Given the description of an element on the screen output the (x, y) to click on. 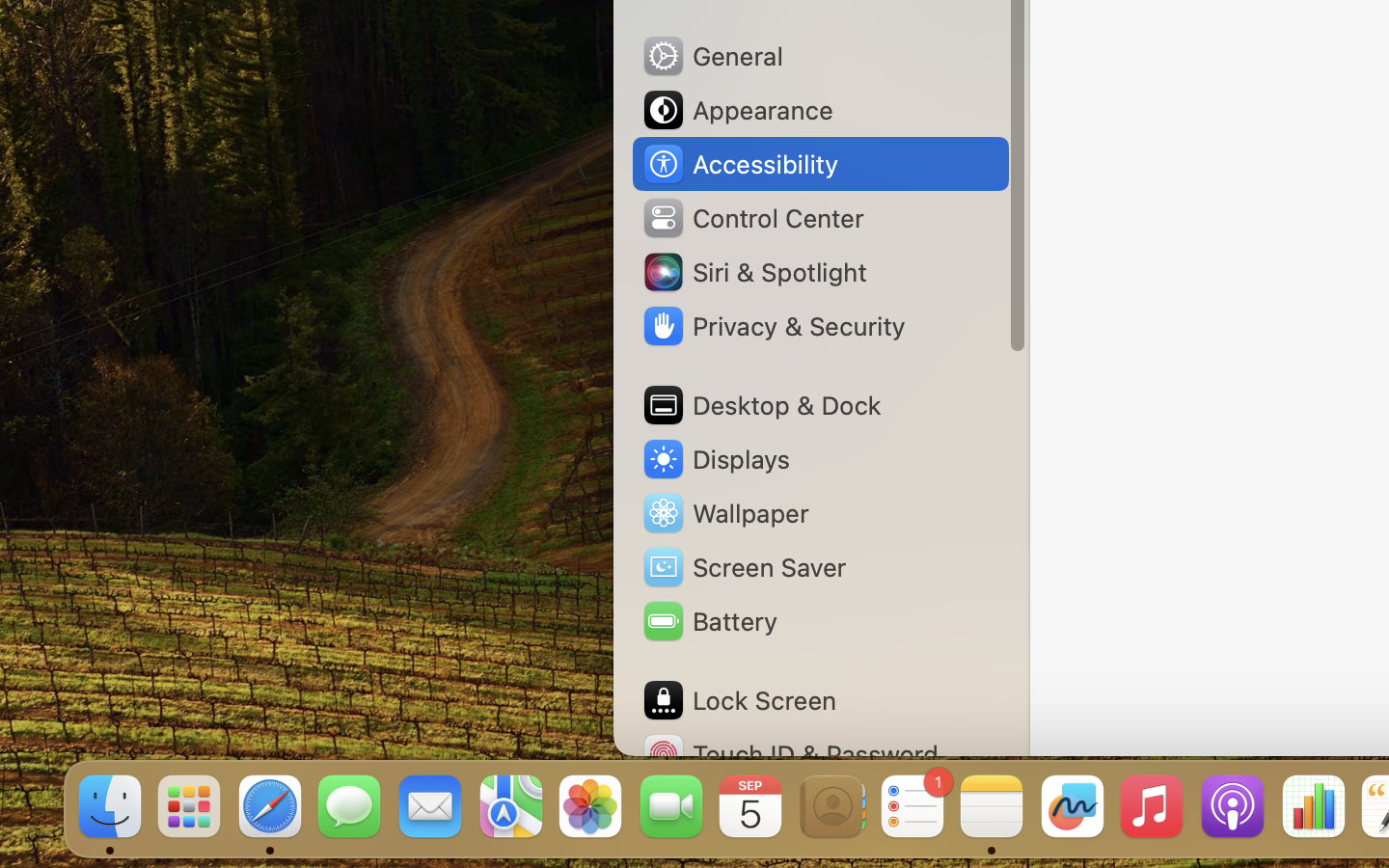
Battery Element type: AXStaticText (708, 620)
Desktop & Dock Element type: AXStaticText (760, 404)
Wallpaper Element type: AXStaticText (724, 512)
General Element type: AXStaticText (711, 55)
Lock Screen Element type: AXStaticText (738, 700)
